Given the description of an element on the screen output the (x, y) to click on. 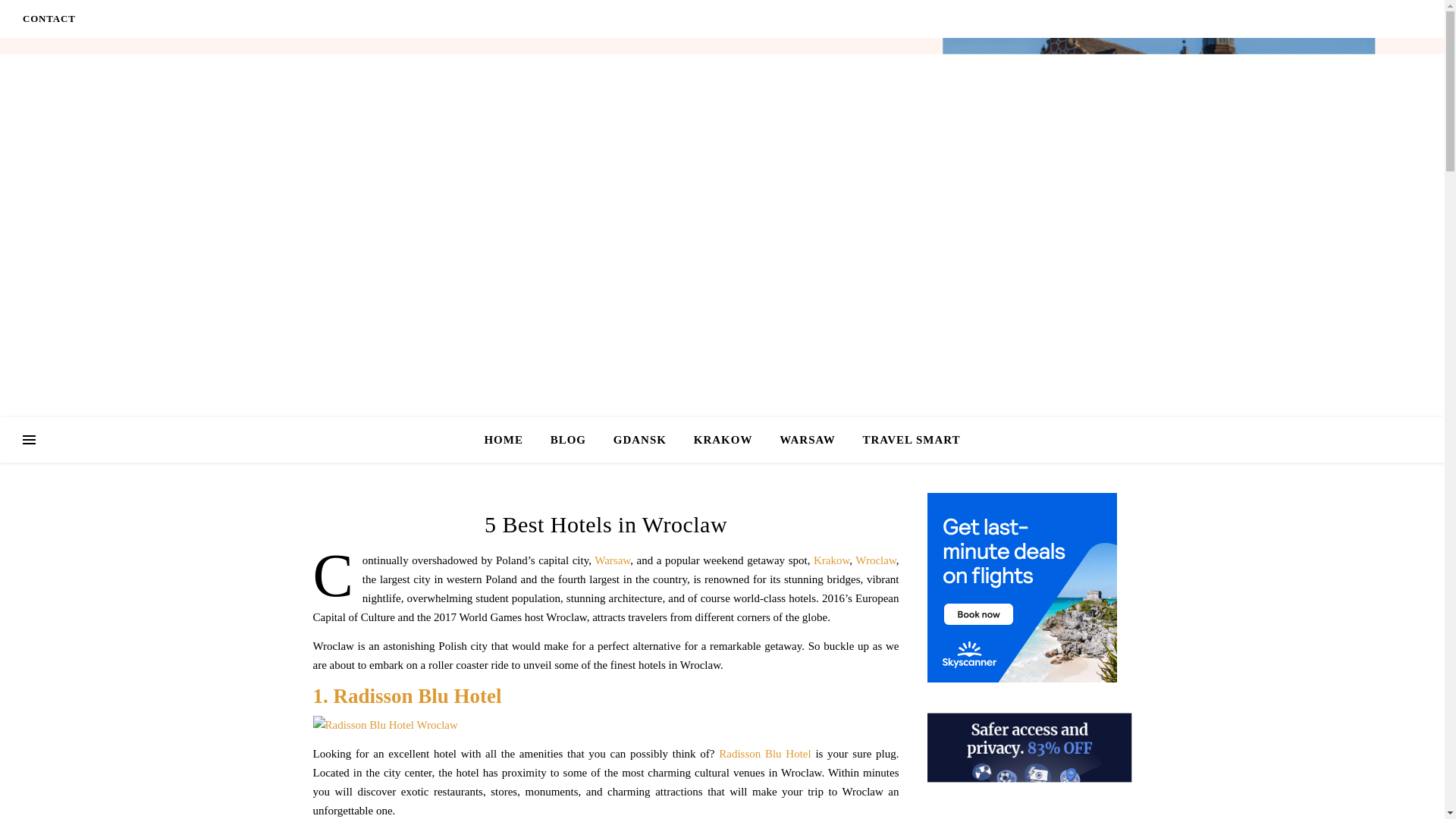
HOME (509, 439)
Radisson Blu Hotel Wroclaw (605, 724)
Radisson Blu Hotel (764, 753)
Warsaw (612, 560)
WARSAW (807, 439)
Krakow (830, 560)
BLOG (568, 439)
CONTACT (49, 18)
1. Radisson Blu Hotel (406, 695)
Wroclaw (875, 560)
